Given the description of an element on the screen output the (x, y) to click on. 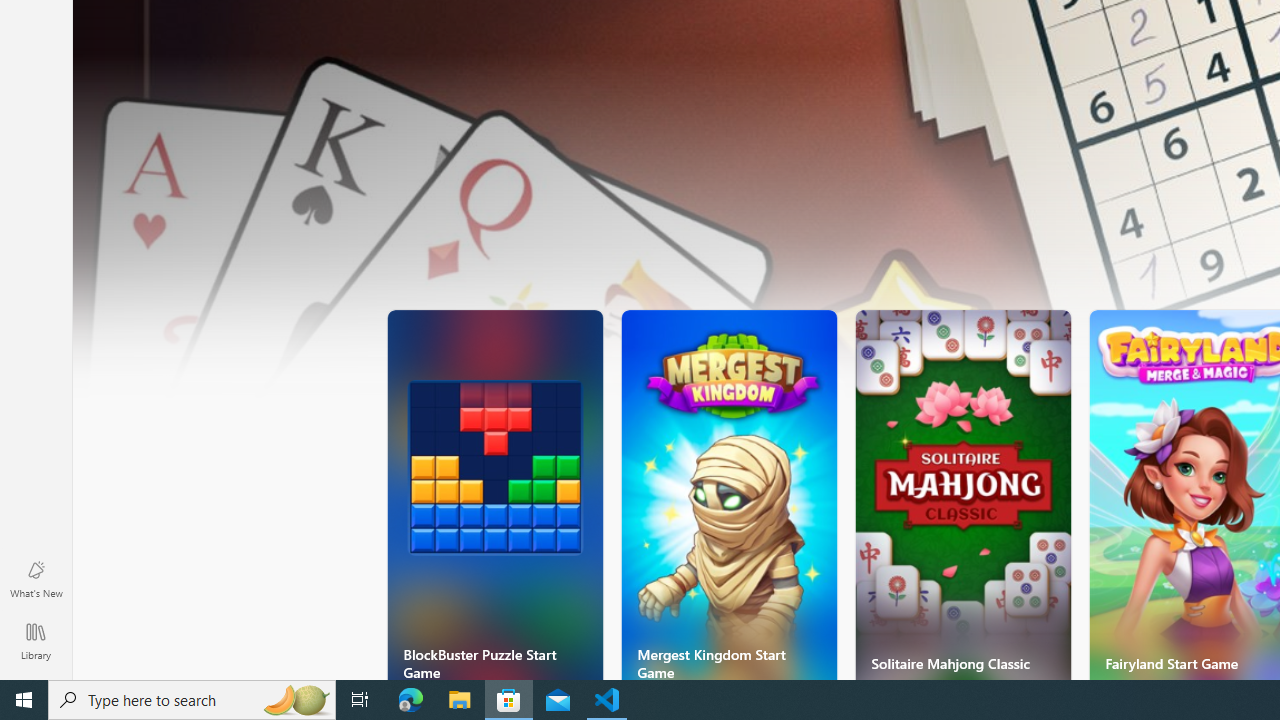
What's New (35, 578)
Library (35, 640)
